Given the description of an element on the screen output the (x, y) to click on. 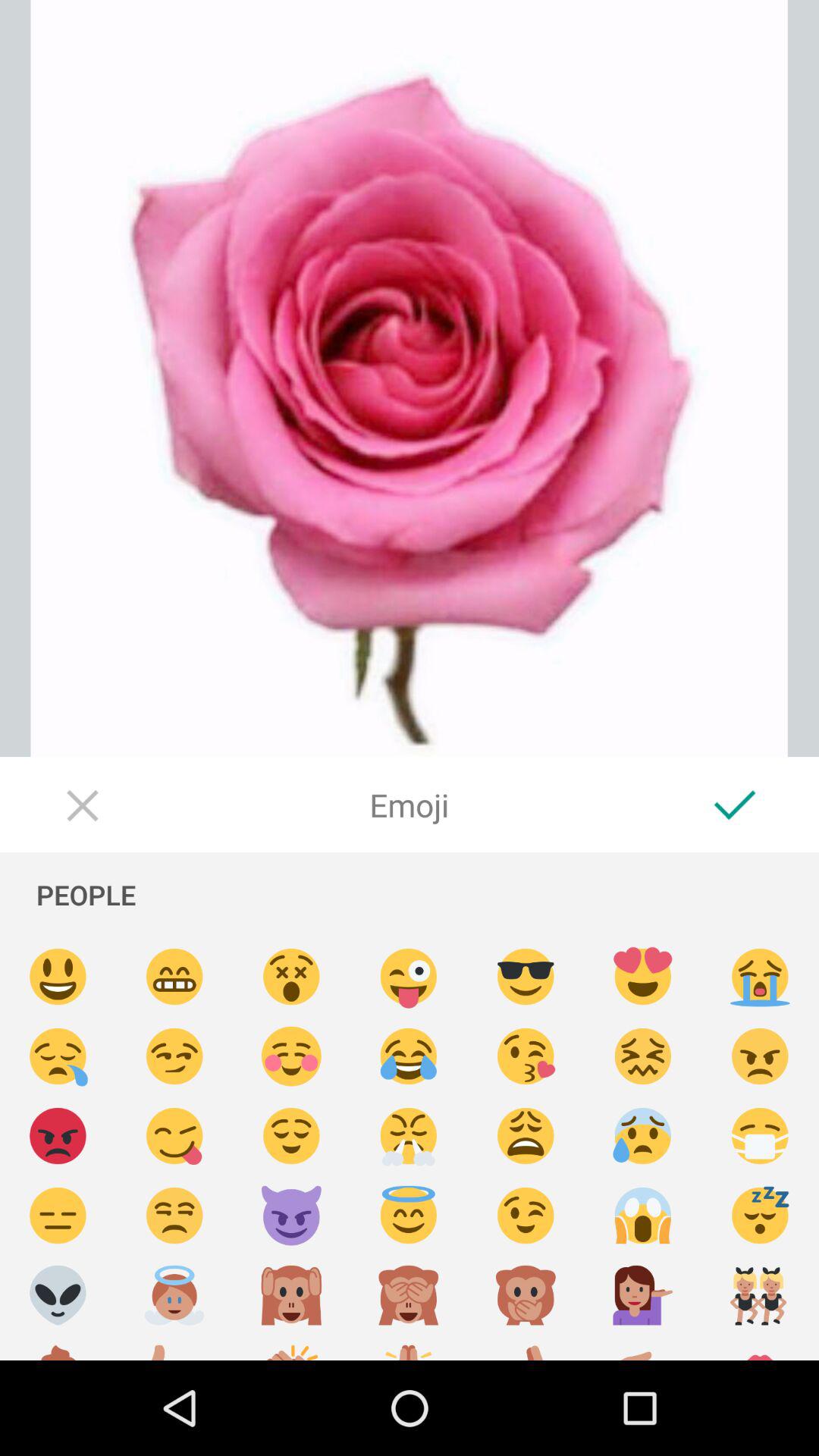
select emoji (525, 1136)
